Given the description of an element on the screen output the (x, y) to click on. 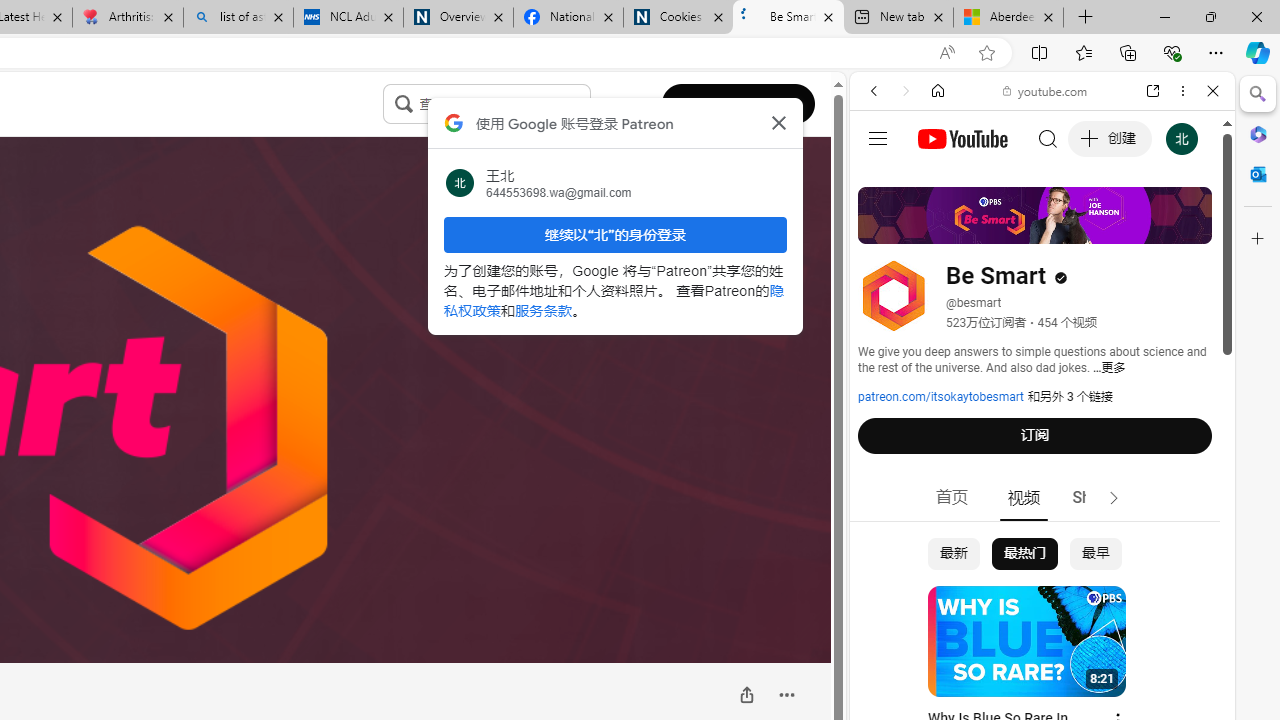
Class: sc-jrQzAO inFiZu (402, 103)
